Given the description of an element on the screen output the (x, y) to click on. 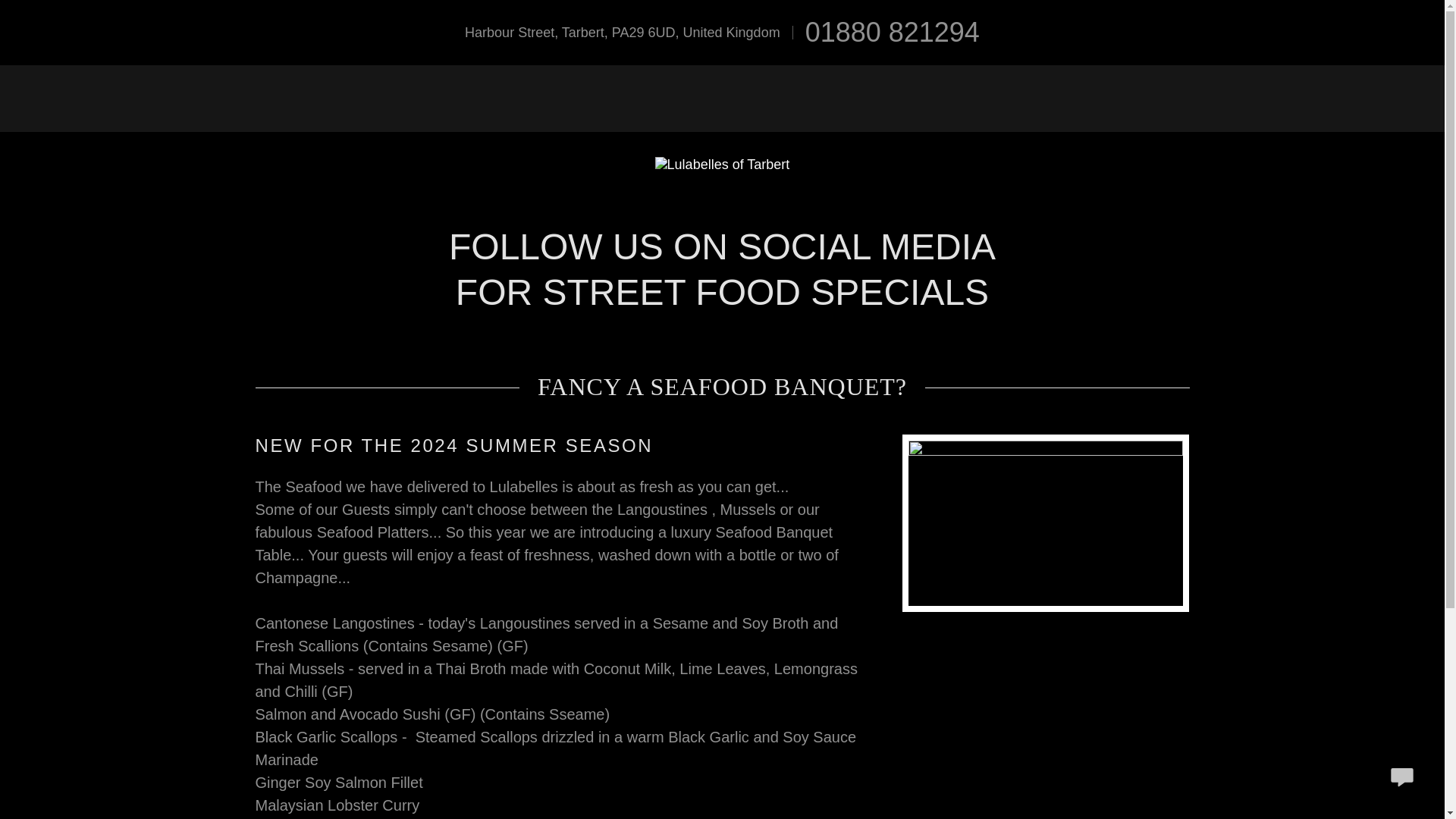
01880 821294 (892, 31)
Lulabelles of Tarbert (722, 163)
